Given the description of an element on the screen output the (x, y) to click on. 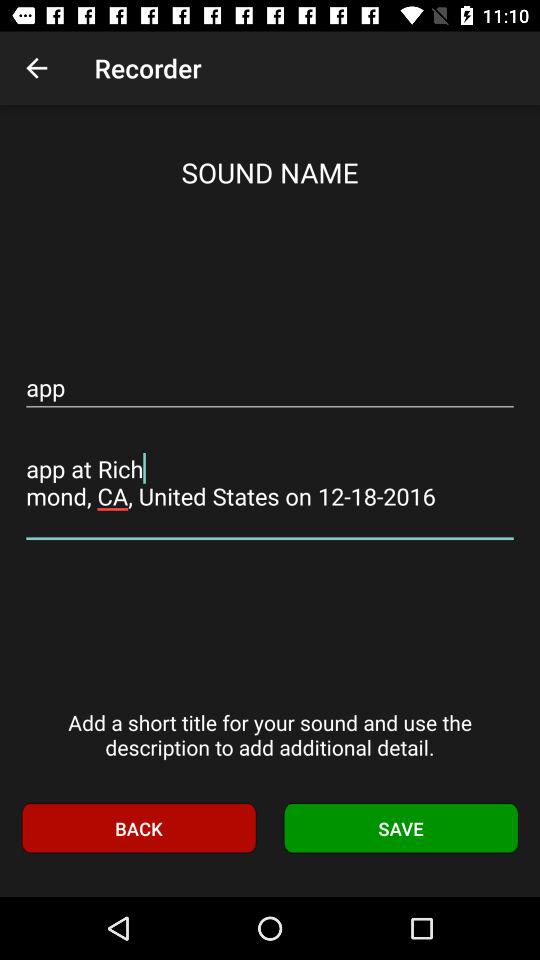
scroll until the back icon (138, 828)
